Given the description of an element on the screen output the (x, y) to click on. 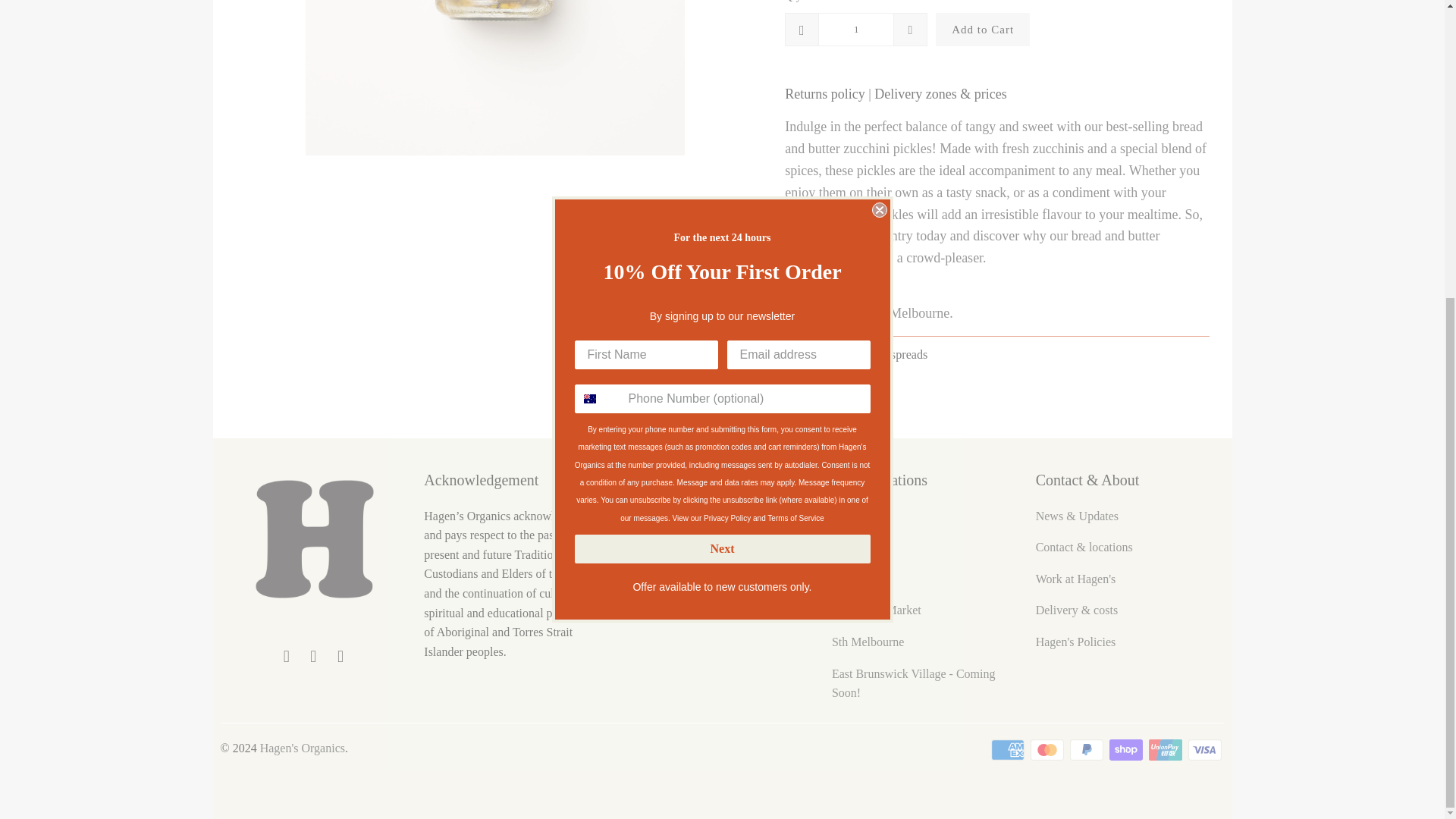
Email Hagen's Organics (341, 656)
Hagen's Organics on Instagram (313, 656)
Hagen's Organics on Facebook (286, 656)
1 (855, 29)
